Given the description of an element on the screen output the (x, y) to click on. 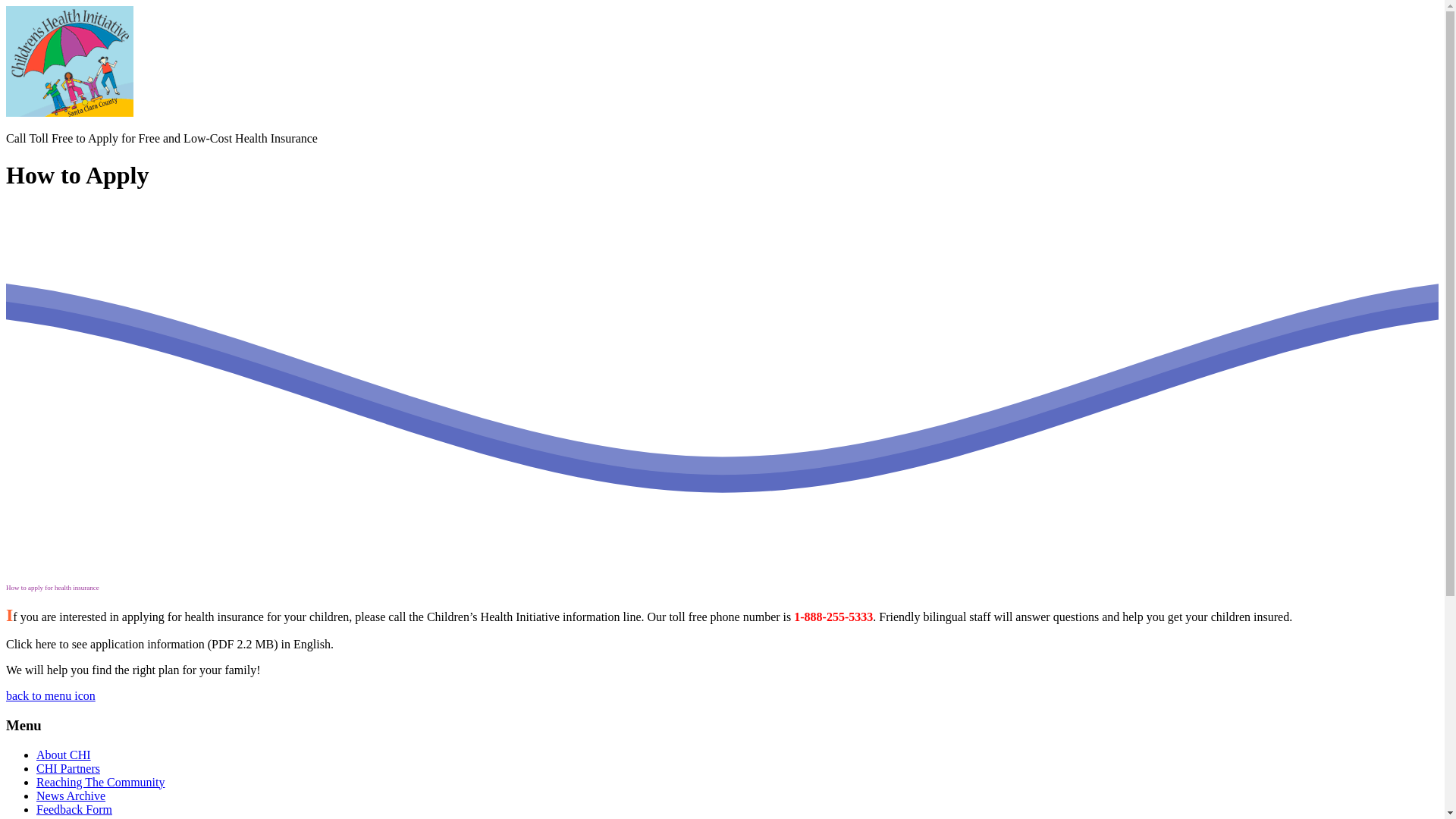
News (50, 817)
CHI Kids (69, 112)
News Archive (70, 795)
About CHI (63, 754)
CHI Partners (68, 768)
back to menu icon (50, 695)
News (50, 817)
